Given the description of an element on the screen output the (x, y) to click on. 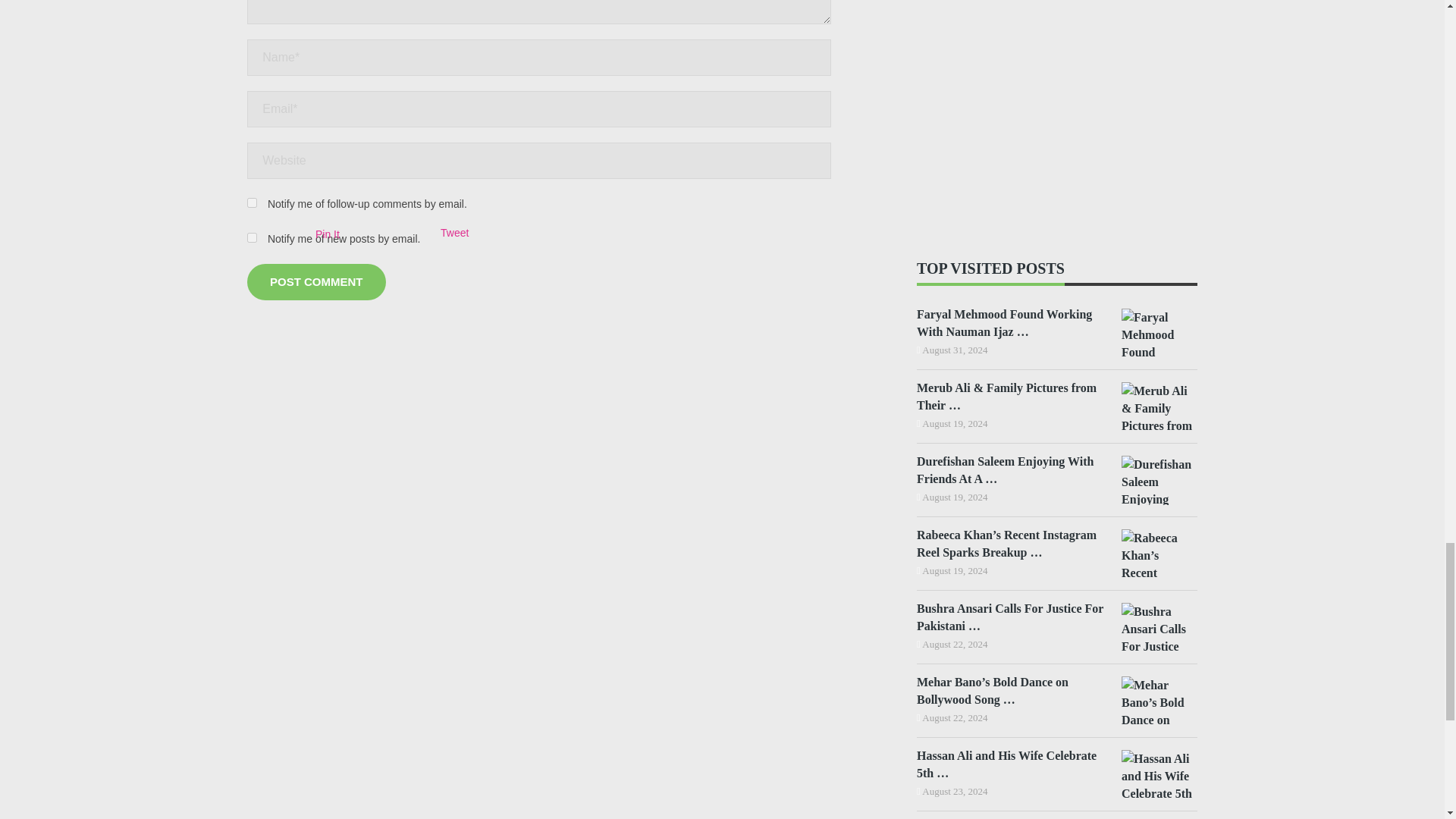
subscribe (252, 203)
subscribe (252, 237)
Post Comment (316, 281)
